Given the description of an element on the screen output the (x, y) to click on. 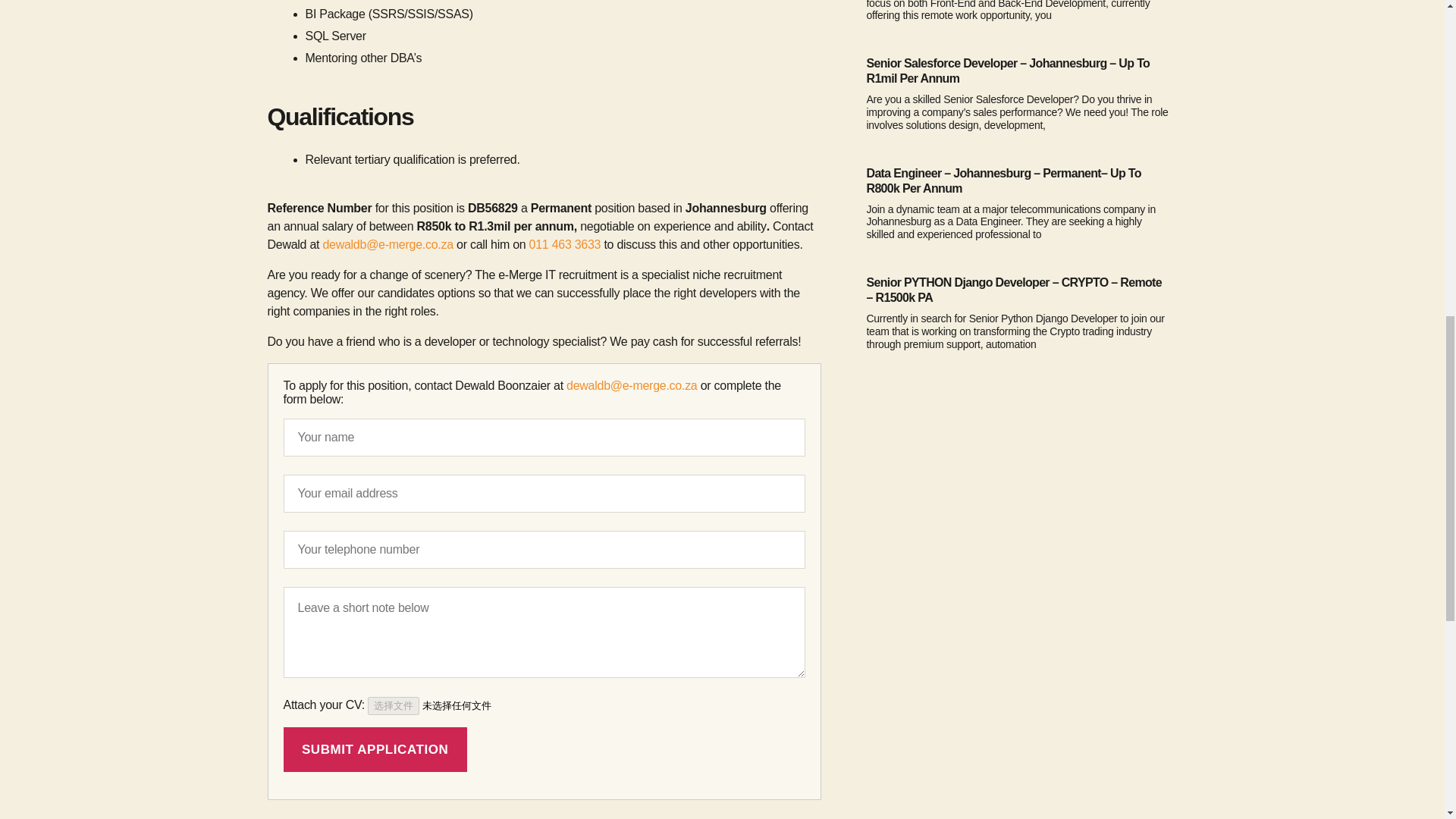
dewaldb (343, 244)
Submit application (375, 749)
Submit application (375, 749)
rge.co.za (428, 244)
011 463 3633 (562, 244)
